Given the description of an element on the screen output the (x, y) to click on. 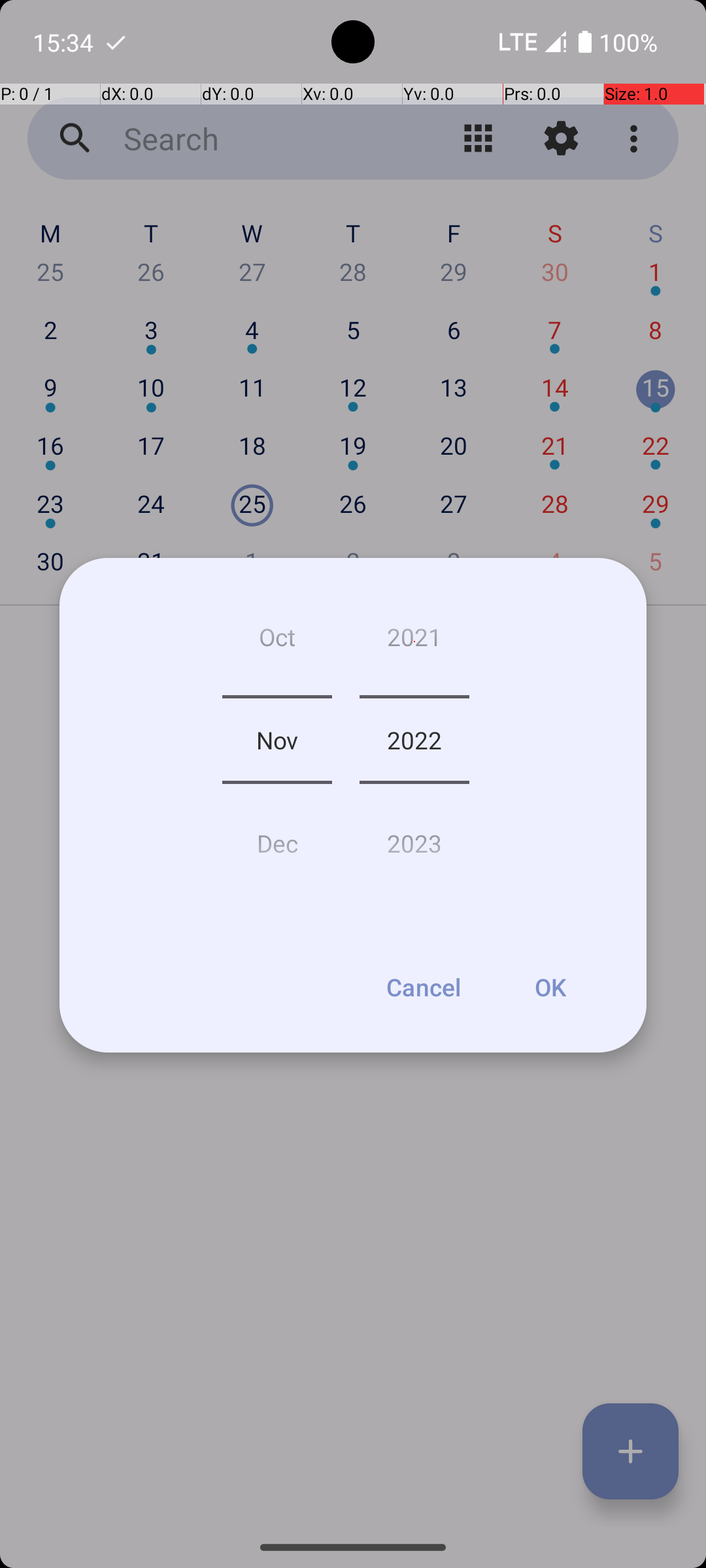
Dec Element type: android.widget.Button (277, 837)
2021 Element type: android.widget.Button (414, 641)
